Given the description of an element on the screen output the (x, y) to click on. 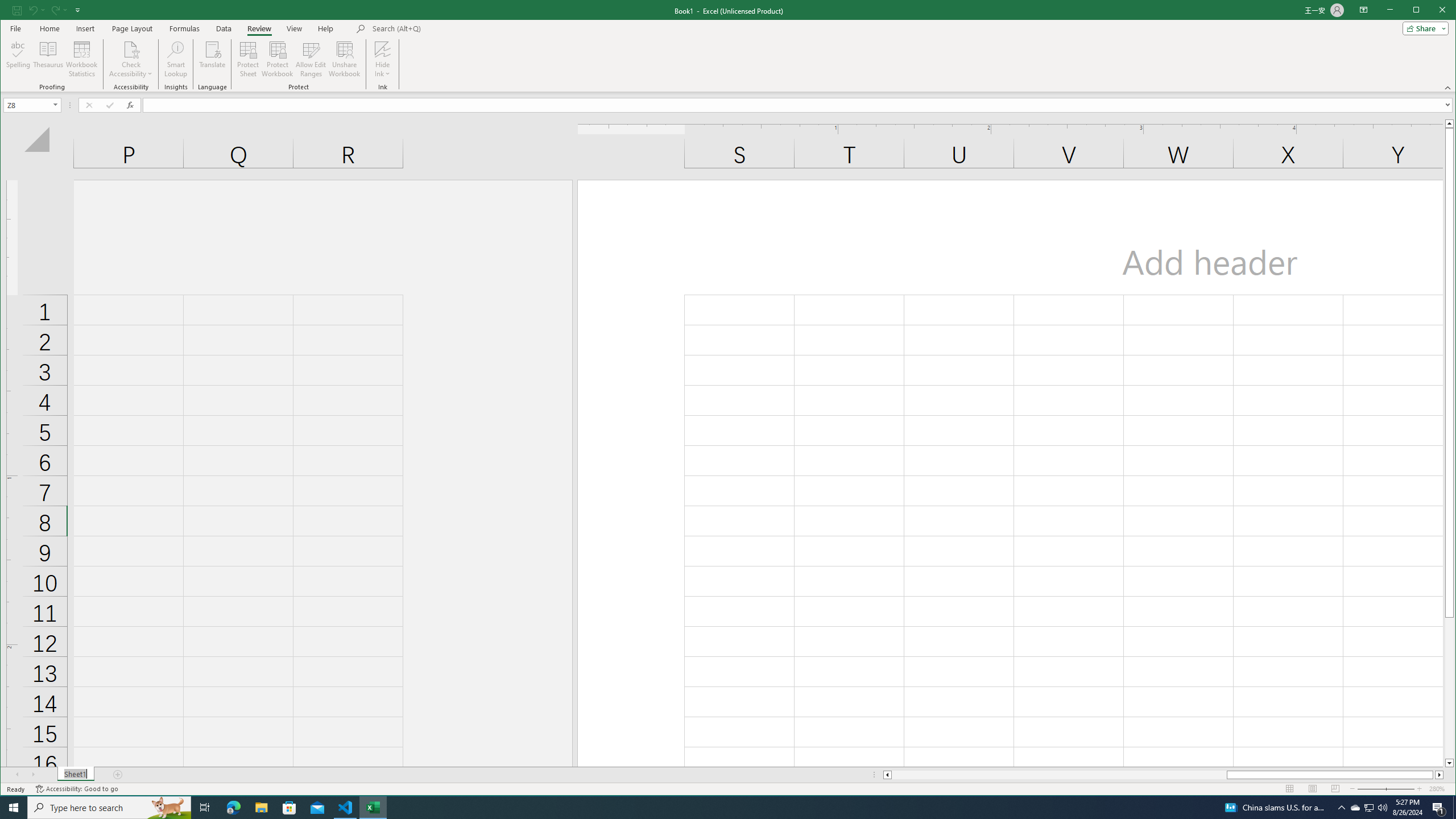
Sheet Tab (75, 774)
Running applications (717, 807)
Redo (58, 9)
Help (325, 28)
View (294, 28)
Open (55, 105)
Home (49, 28)
Microsoft search (451, 28)
Sheet1 (75, 774)
Insert (85, 28)
Class: NetUIScrollBar (1163, 774)
Zoom (1384, 788)
Scroll Left (18, 774)
Page Layout (1312, 788)
